Given the description of an element on the screen output the (x, y) to click on. 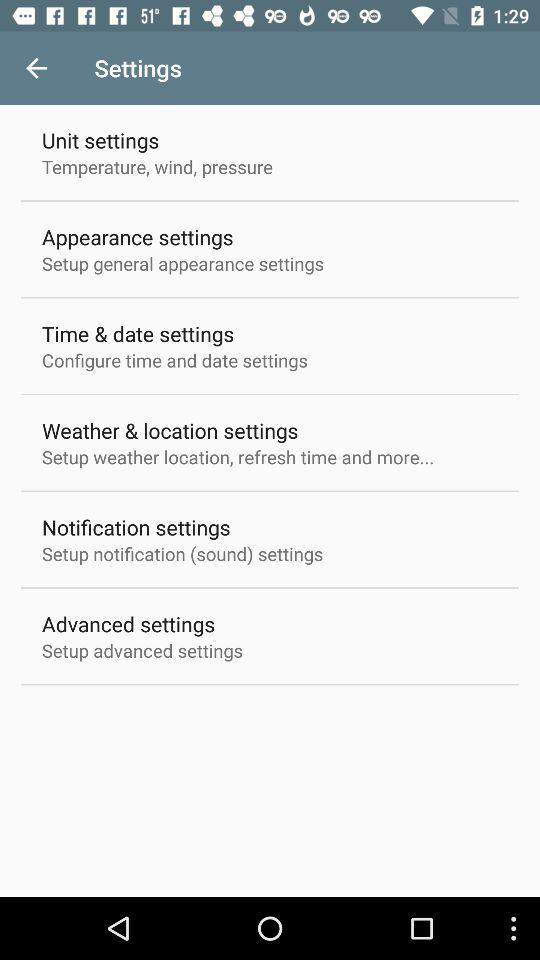
select the icon above the appearance settings item (157, 166)
